Given the description of an element on the screen output the (x, y) to click on. 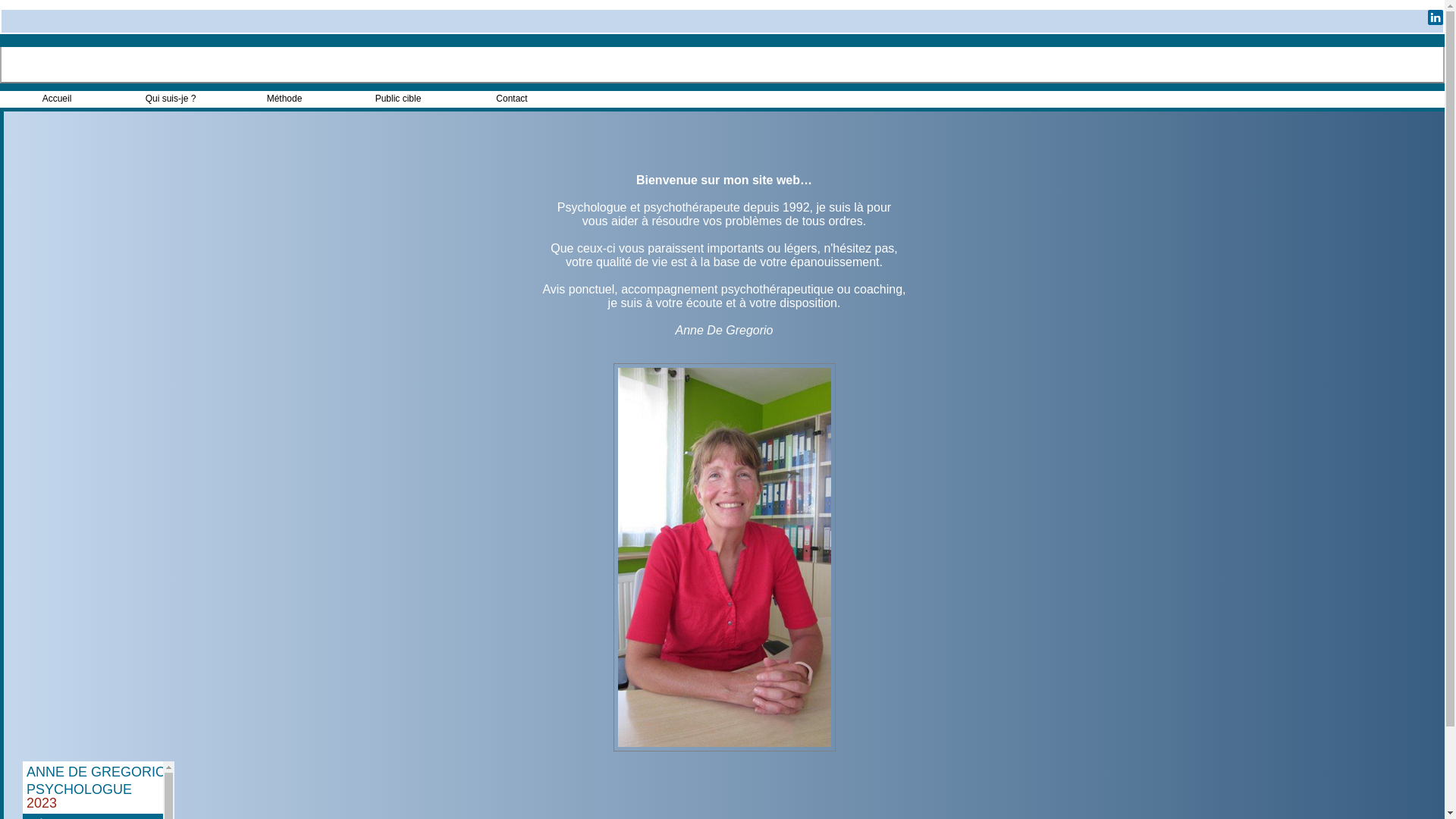
Contact Element type: text (511, 98)
Accueil Element type: text (56, 98)
Qui suis-je ? Element type: text (170, 98)
Public cible Element type: text (398, 98)
